Given the description of an element on the screen output the (x, y) to click on. 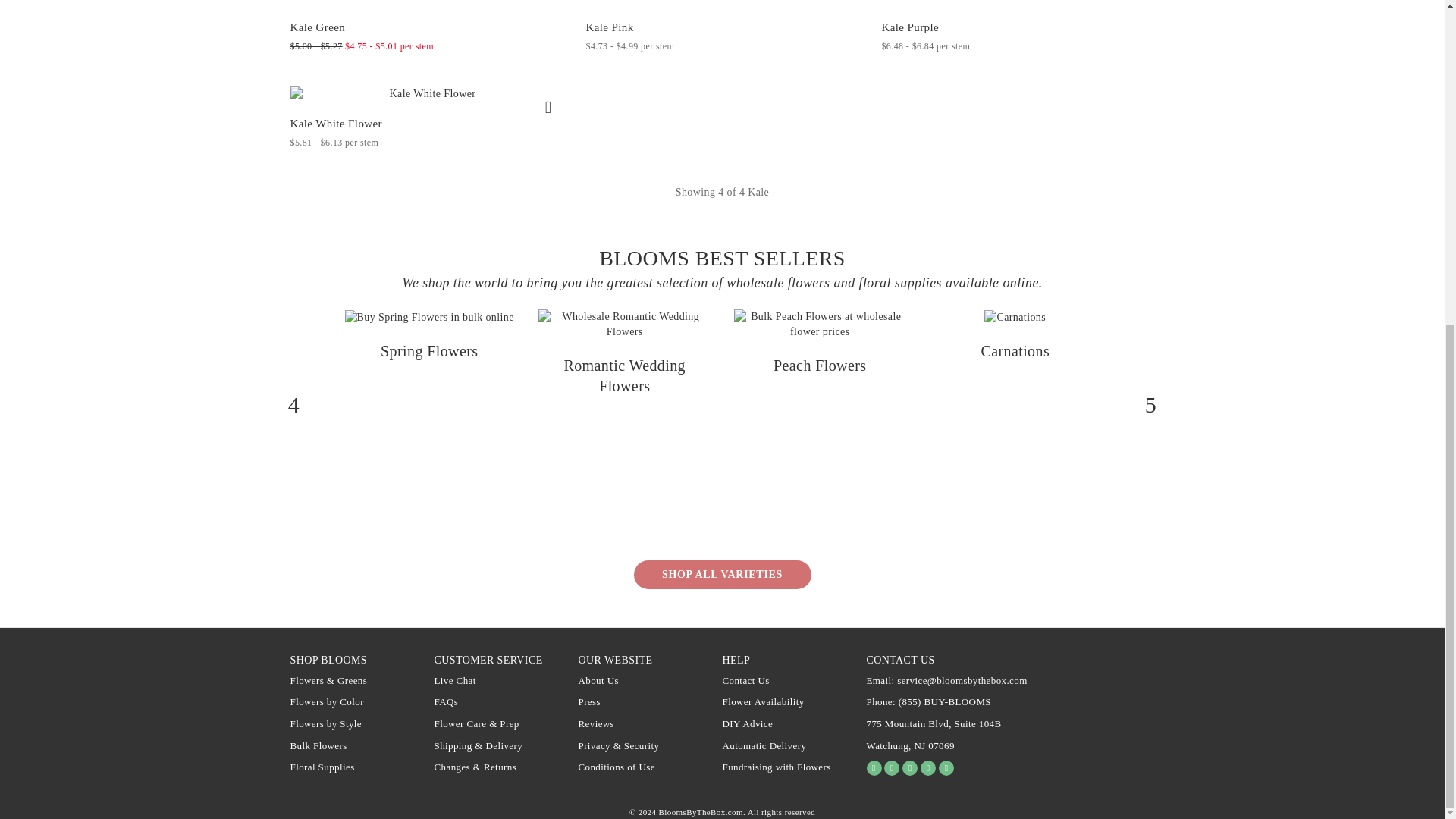
Wholesale Carnations (1014, 351)
Wholesale Peach Flowers (819, 365)
contact us (900, 659)
Wholesale Romantic Wedding Flowers (624, 375)
Wholesale Spring Flowers (428, 351)
